Given the description of an element on the screen output the (x, y) to click on. 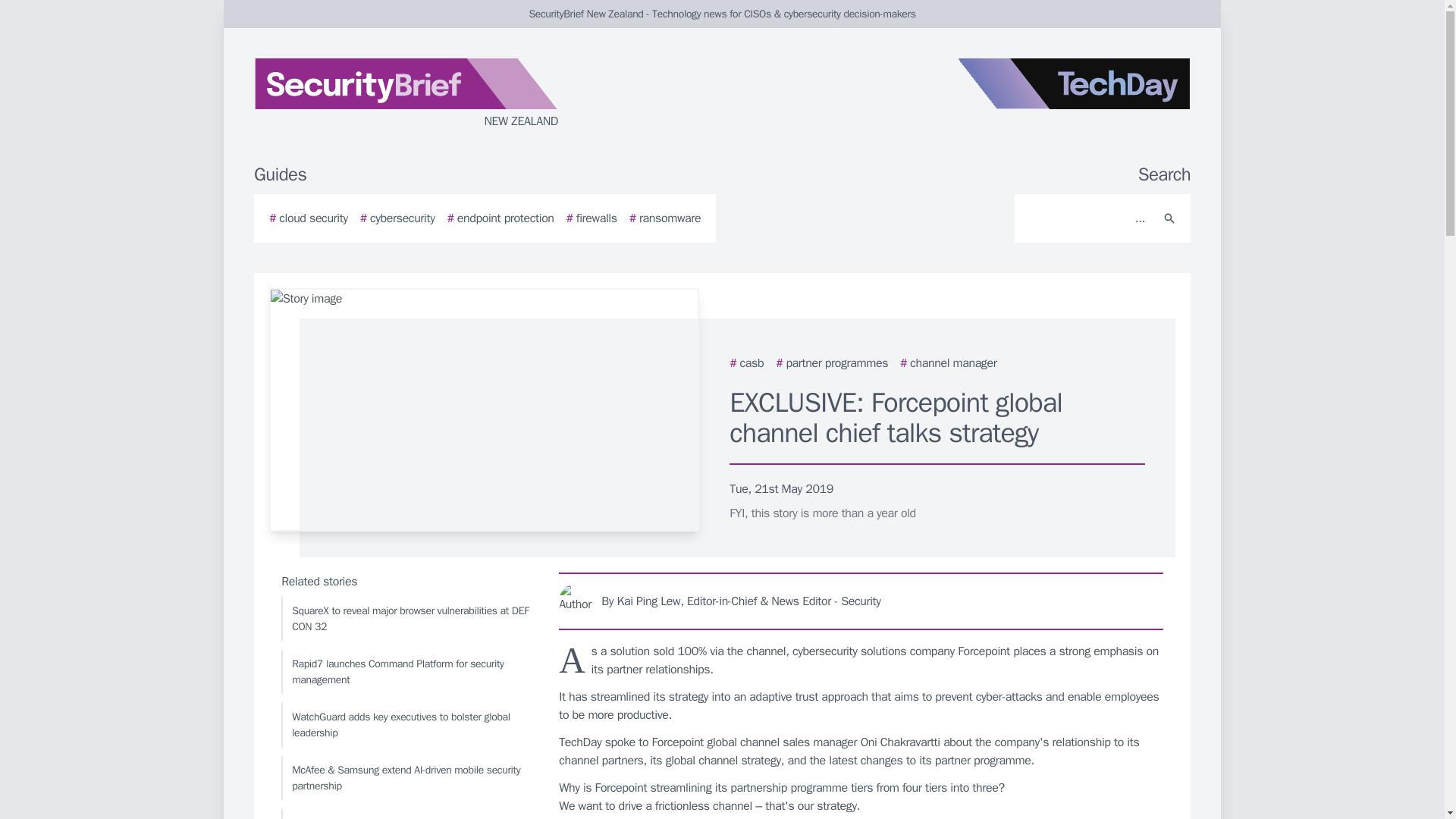
Rapid7 launches Command Platform for security management (406, 671)
NEW ZEALAND (435, 94)
WatchGuard adds key executives to bolster global leadership (406, 724)
